Given the description of an element on the screen output the (x, y) to click on. 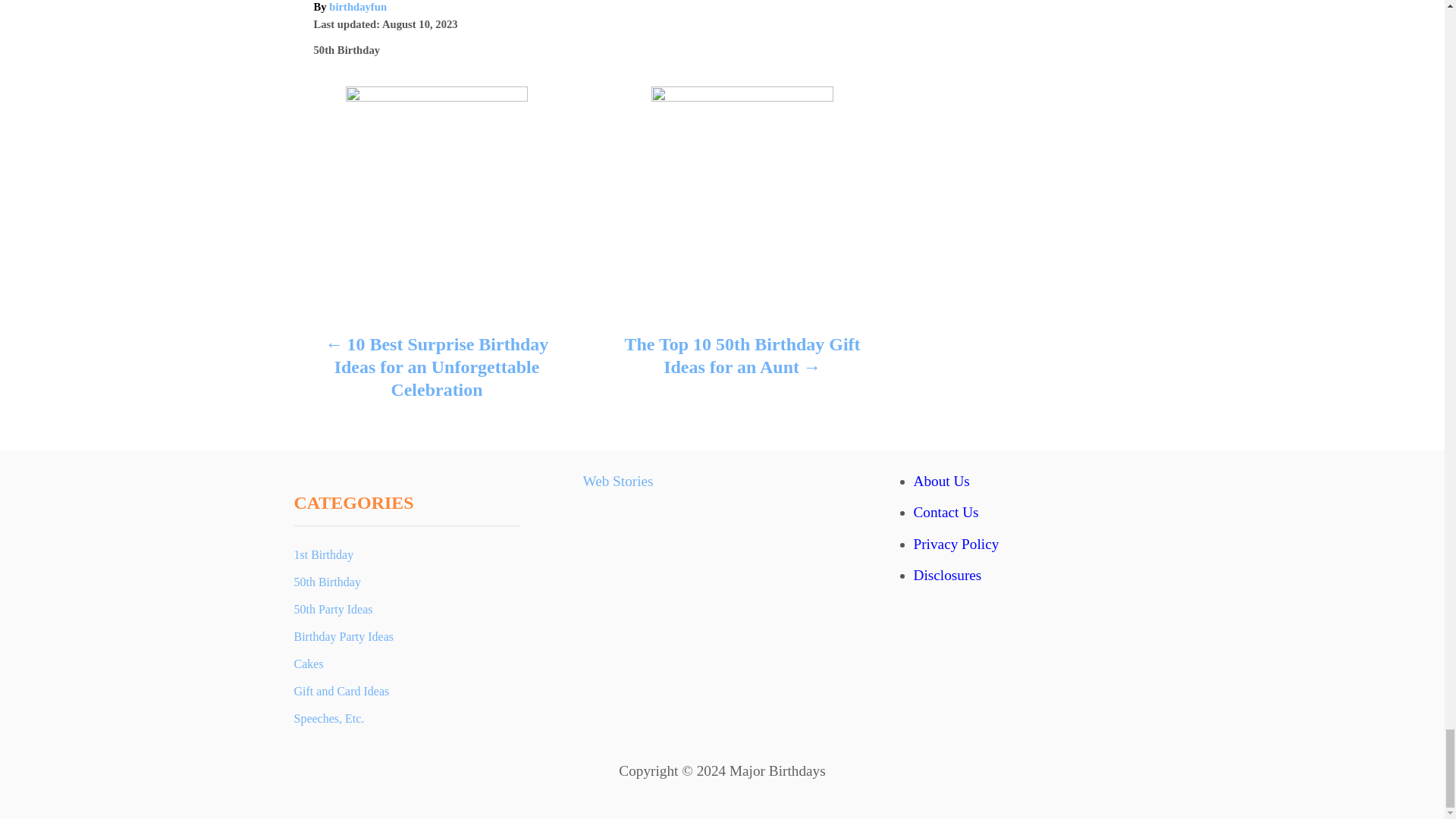
50th Birthday (347, 50)
1st Birthday (406, 554)
birthdayfun (358, 6)
The Top 10 50th Birthday Gift Ideas for an Aunt (741, 358)
